Given the description of an element on the screen output the (x, y) to click on. 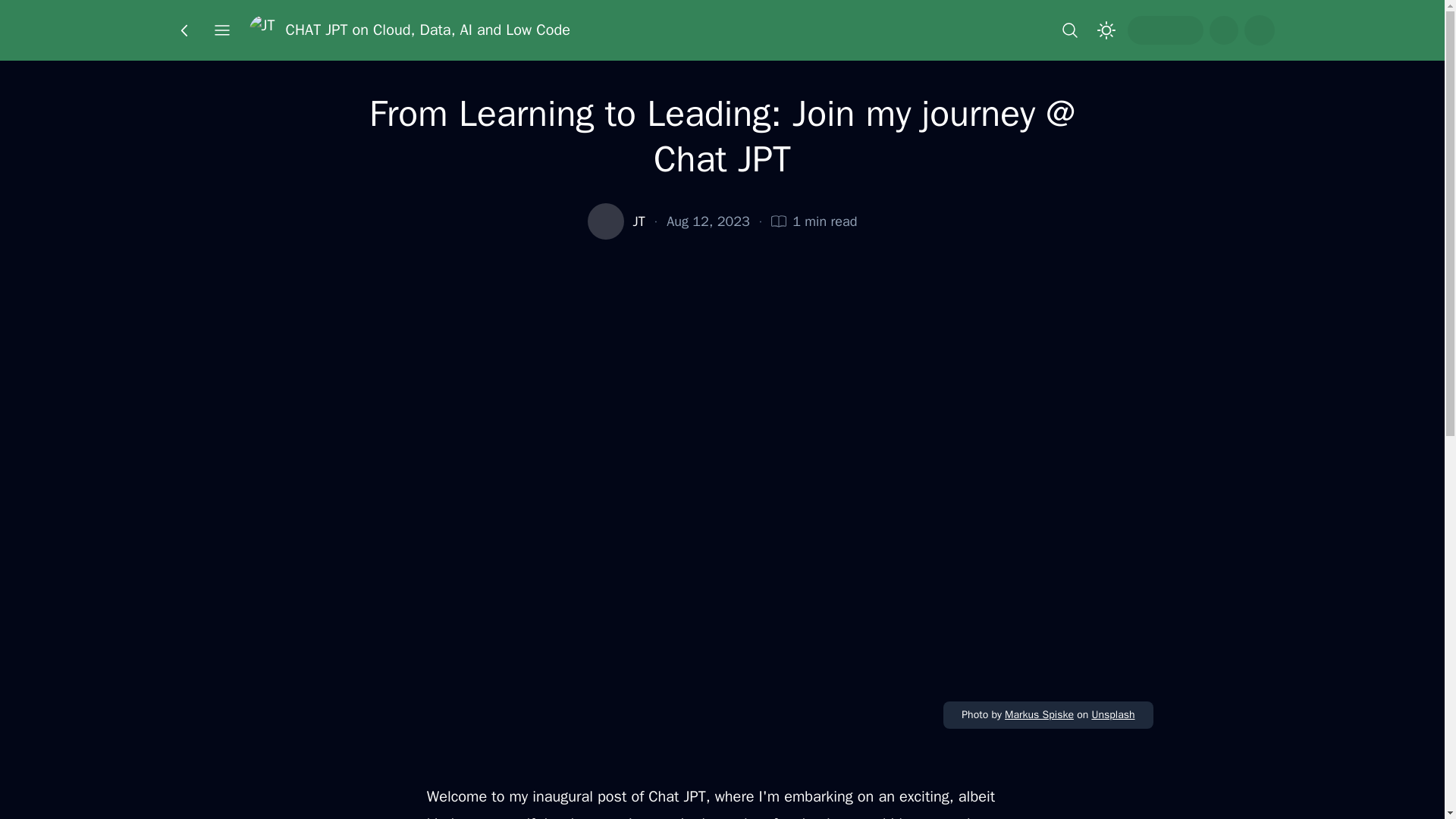
Markus Spiske (1039, 714)
Aug 12, 2023 (707, 220)
CHAT JPT on Cloud, Data, AI and Low Code (409, 30)
Unsplash (1112, 714)
